Given the description of an element on the screen output the (x, y) to click on. 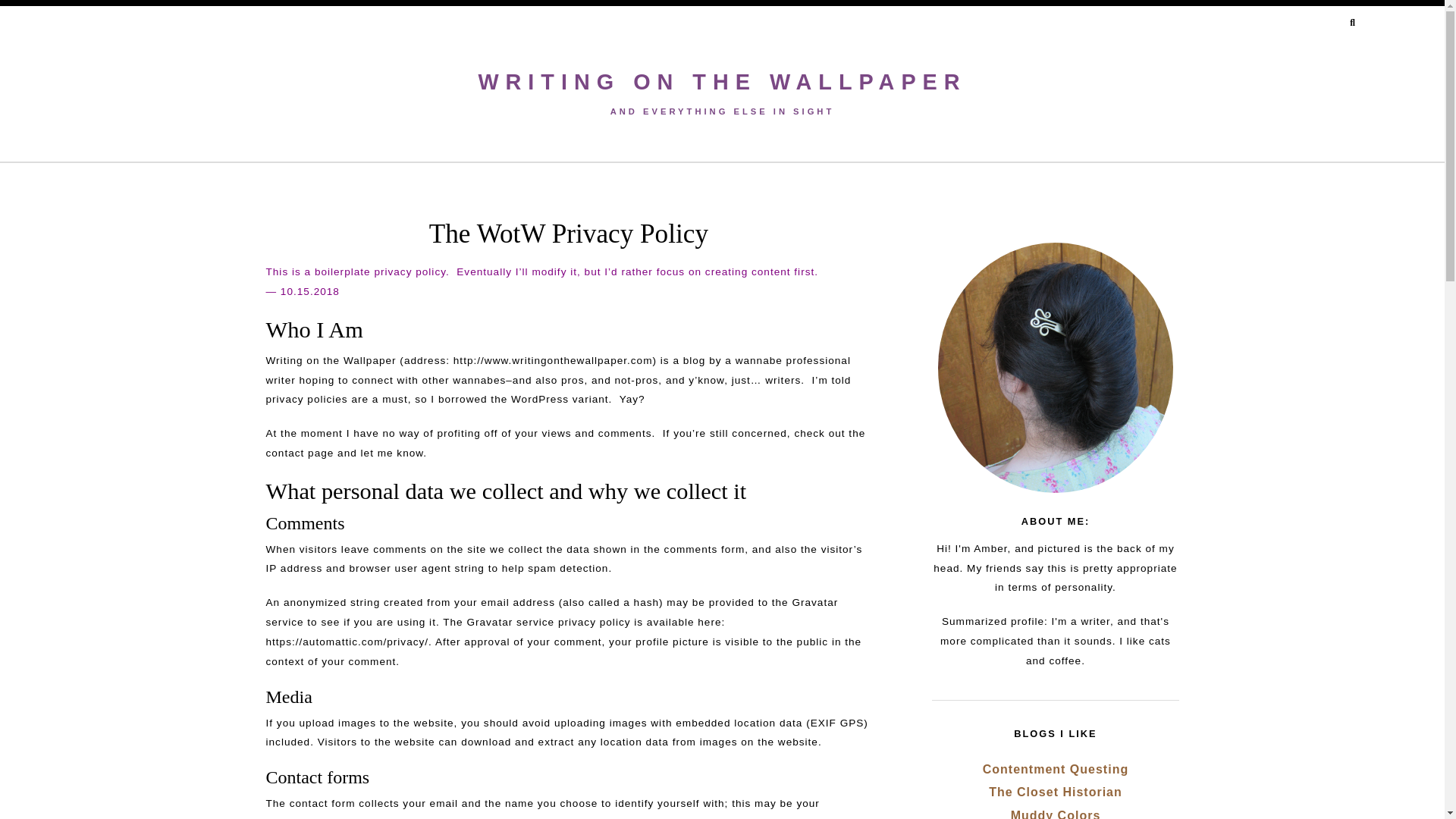
WRITING ON THE WALLPAPER (721, 81)
Search for: (1319, 23)
Contentment Questing (1055, 768)
Muddy Colors (1055, 814)
Search (24, 6)
The Closet Historian (1055, 791)
